Given the description of an element on the screen output the (x, y) to click on. 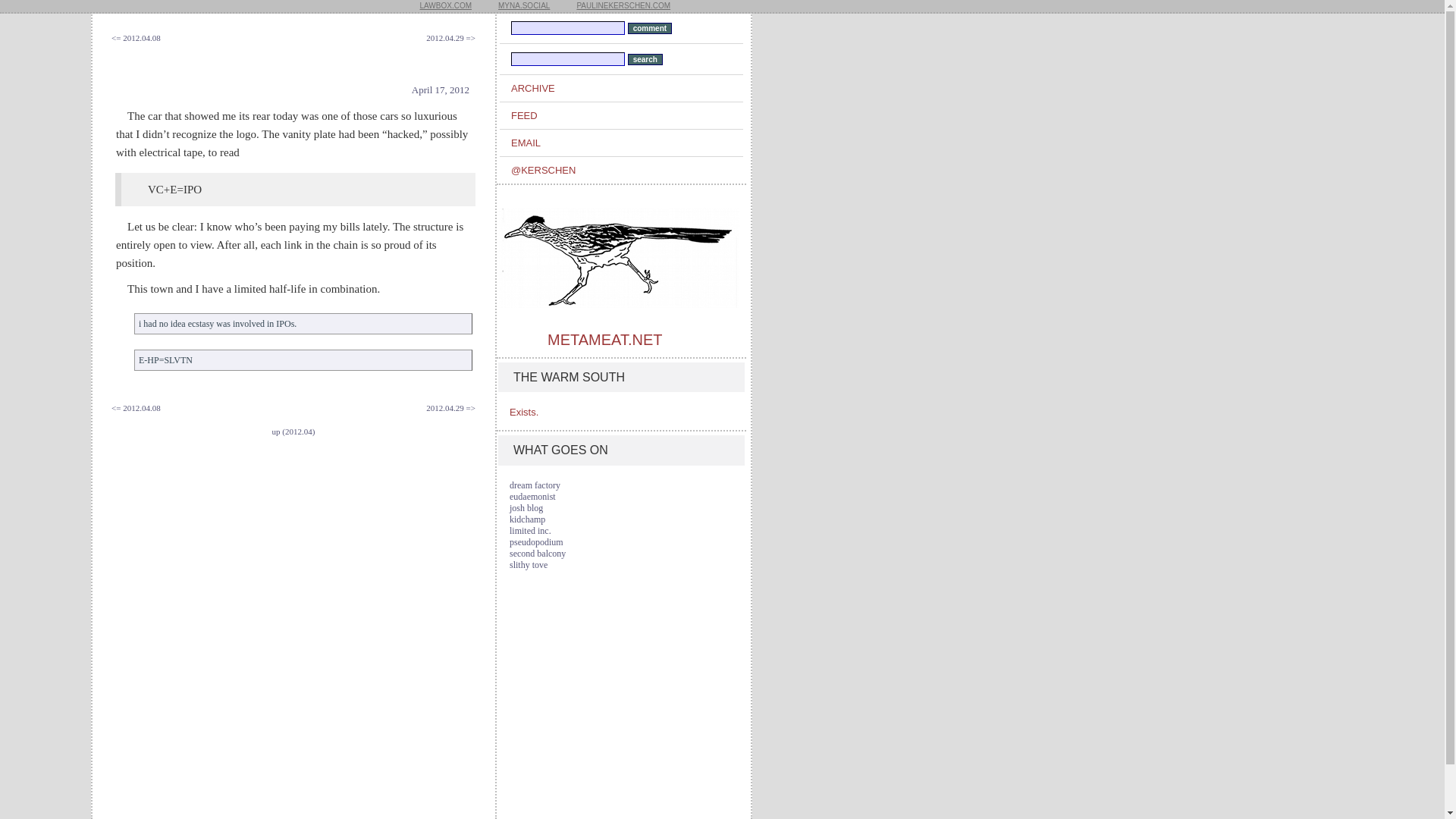
PAULINEKERSCHEN.COM (623, 6)
comment (649, 28)
EMAIL (626, 143)
Exists. (523, 411)
dream factory (534, 484)
kidchamp (526, 519)
pseudopodium (536, 542)
LAWBOX.COM (445, 6)
eudaemonist (532, 496)
search (644, 59)
